Given the description of an element on the screen output the (x, y) to click on. 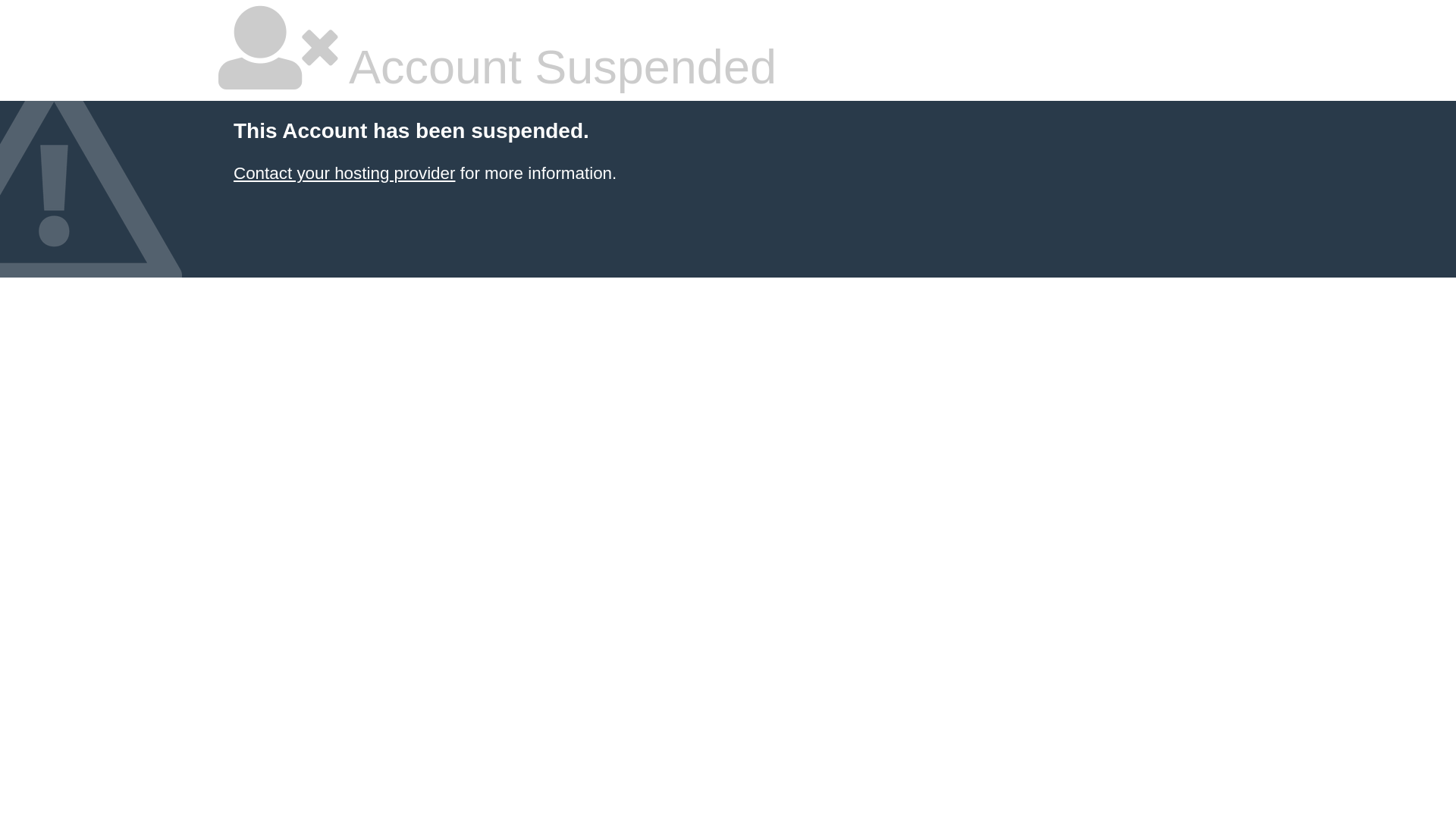
Contact your hosting provider Element type: text (344, 172)
